Given the description of an element on the screen output the (x, y) to click on. 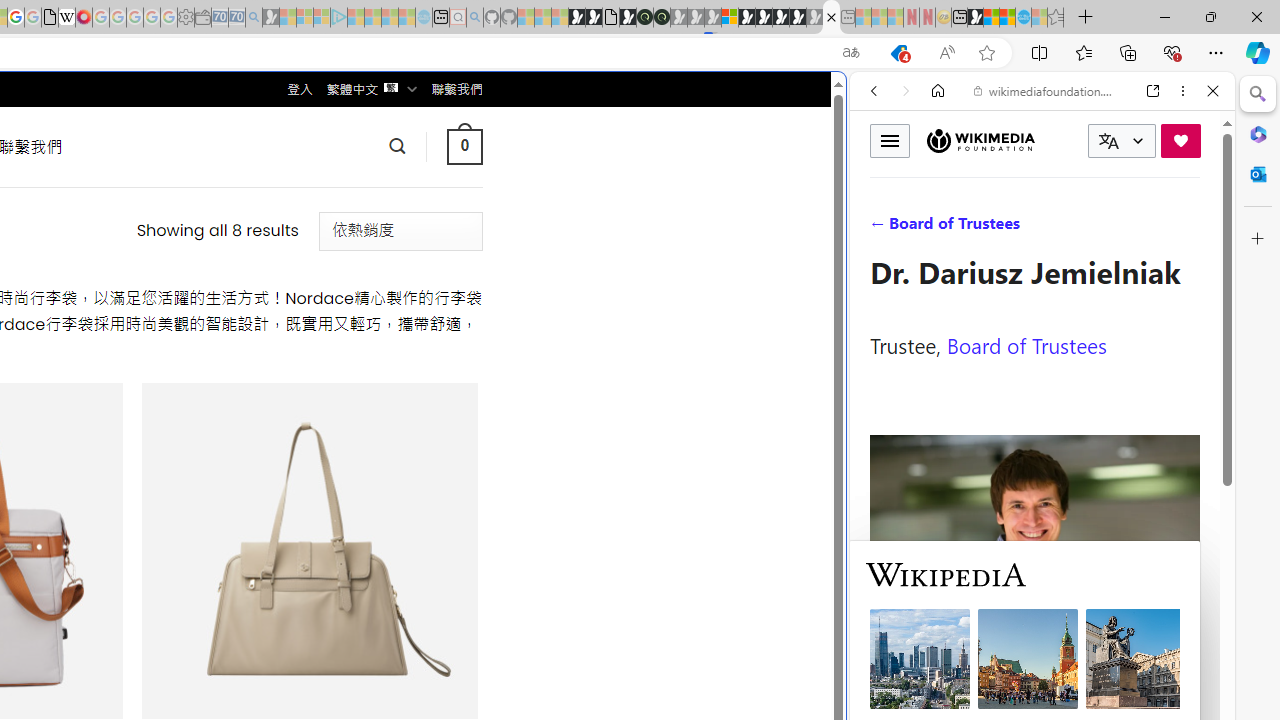
Close split screen (844, 102)
